Given the description of an element on the screen output the (x, y) to click on. 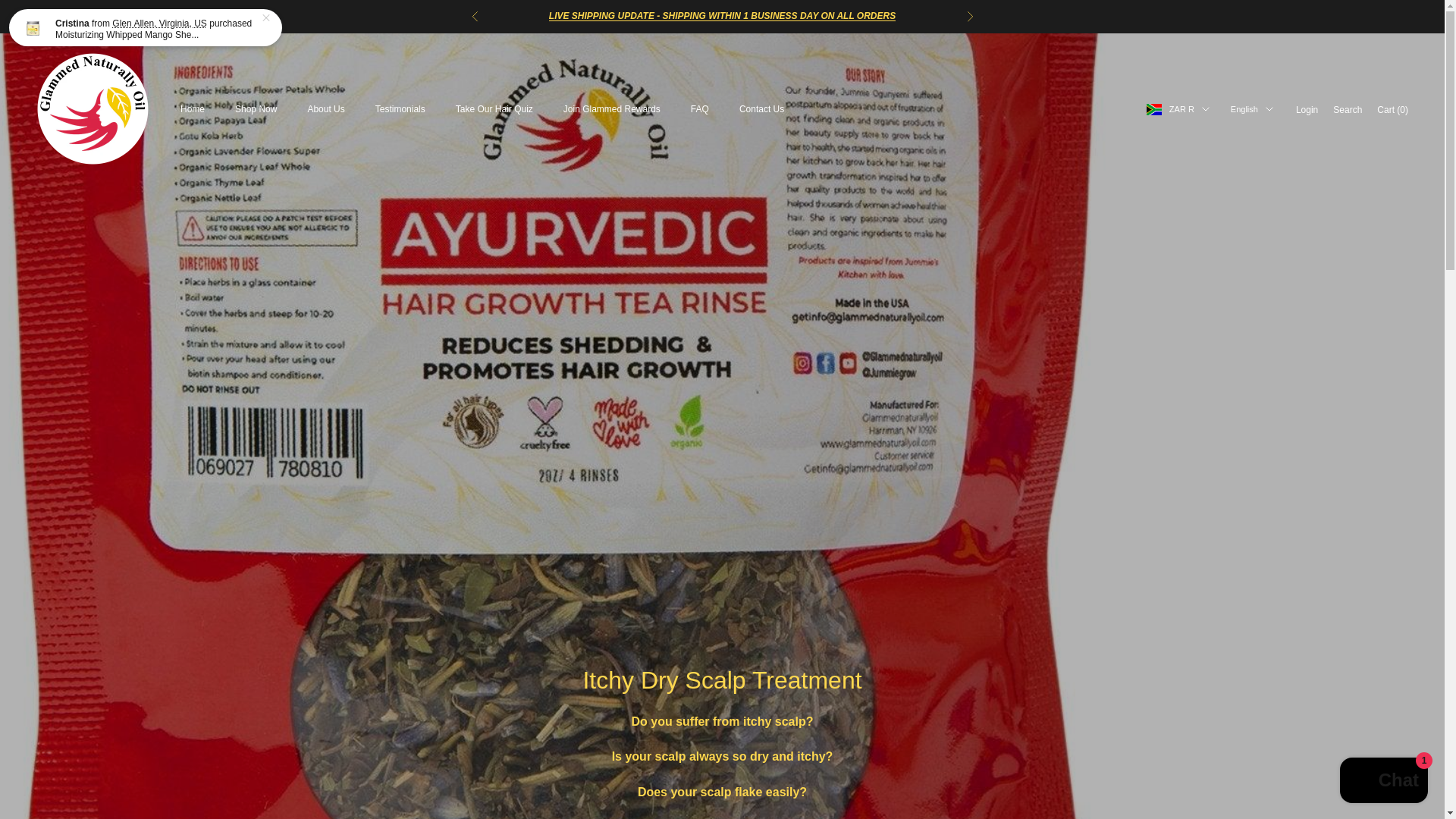
Testimonials (400, 109)
FAQ (699, 109)
Take Our Hair Quiz (493, 109)
About Us (325, 109)
ZAR R (1178, 109)
GlammedNaturallyOil (92, 109)
Home (192, 109)
Contact Us (761, 109)
ALL (721, 15)
Shopify online store chat (1383, 781)
Join Glammed Rewards (612, 109)
